Given the description of an element on the screen output the (x, y) to click on. 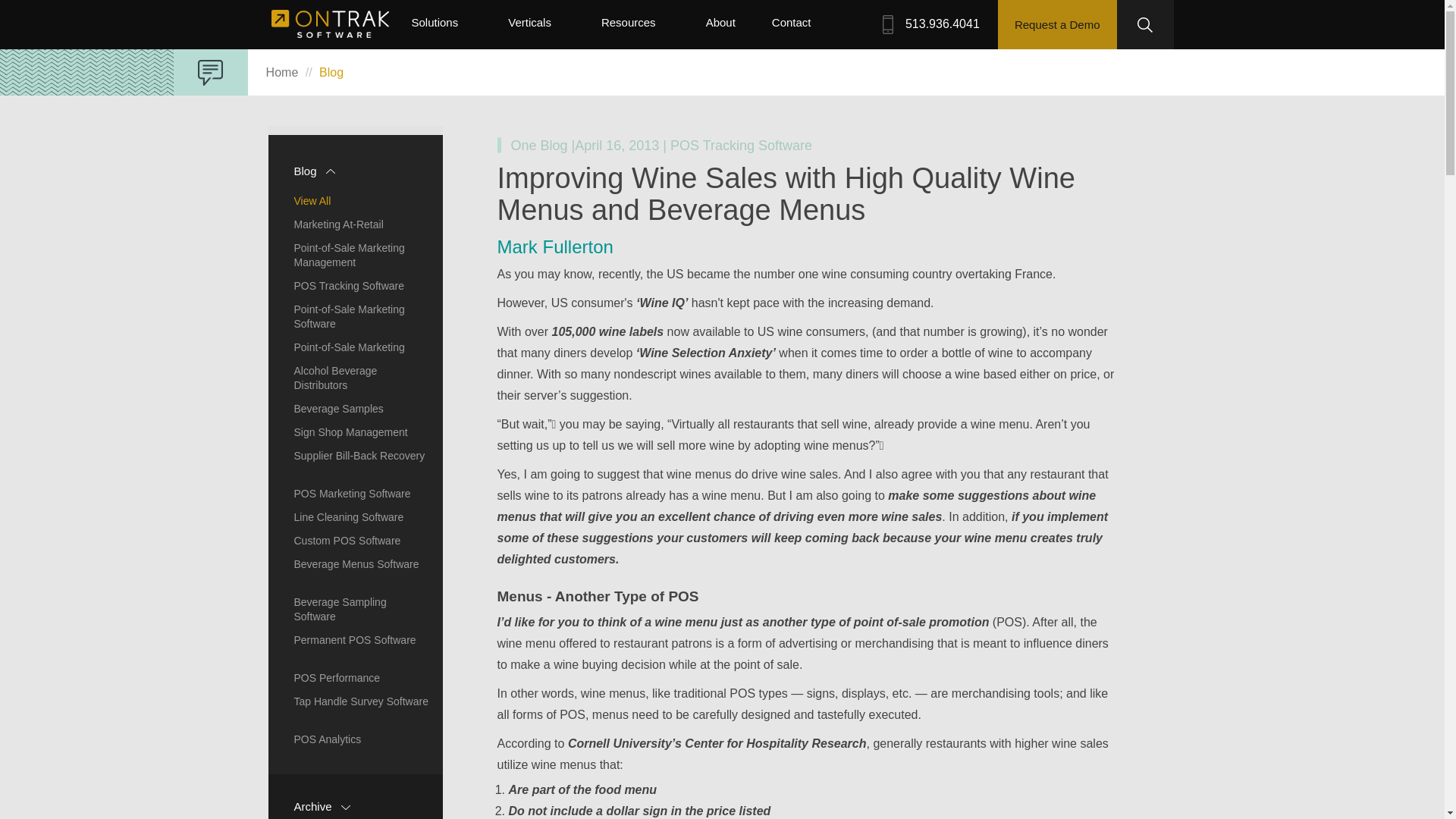
POS Tracking Software (351, 285)
Blog (354, 170)
View All (351, 200)
About (727, 24)
Resources (634, 24)
Marketing At-Retail (351, 223)
Verticals (535, 24)
Beverage Samples (351, 408)
Sign Shop Management (351, 431)
ontrack (329, 23)
